Given the description of an element on the screen output the (x, y) to click on. 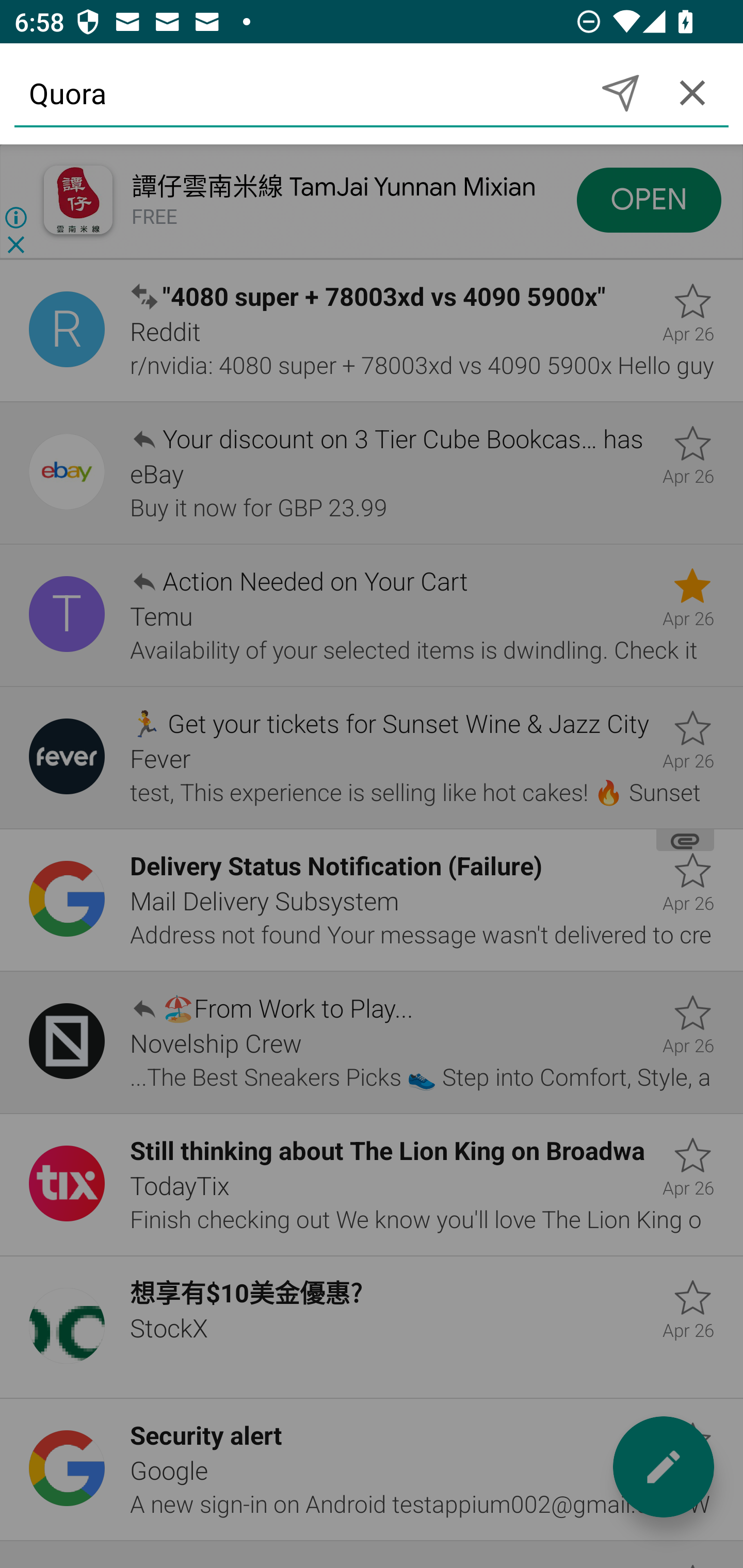
Quora (298, 92)
Search sender only (619, 92)
Cancel (692, 92)
